Given the description of an element on the screen output the (x, y) to click on. 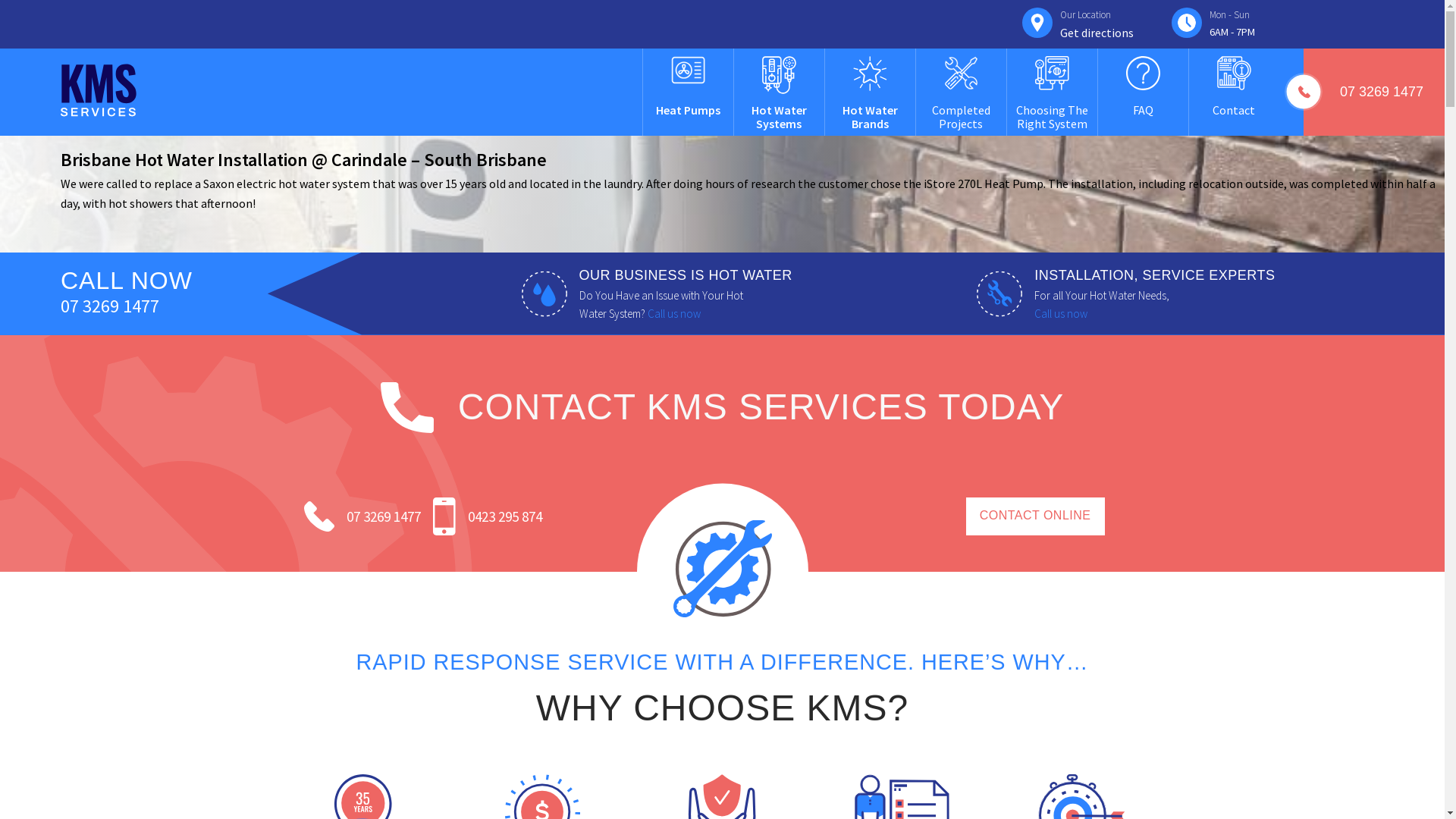
Get directions Element type: text (1096, 32)
FAQ Element type: text (1142, 109)
Contact Element type: text (1233, 109)
Heat Pumps Element type: text (687, 109)
Choosing The Right System Element type: text (1052, 116)
Completed Projects Element type: text (960, 116)
Our Location Element type: text (1096, 23)
07 3269 1477 Element type: text (382, 516)
Hot Water Brands Element type: text (869, 116)
Hot Water Systems Element type: text (778, 116)
Call us now Element type: text (1060, 313)
07 3269 1477 Element type: text (1381, 92)
Call us now Element type: text (673, 313)
0423 295 874 Element type: text (504, 516)
CONTACT ONLINE Element type: text (1035, 516)
07 3269 1477 Element type: text (133, 305)
